Given the description of an element on the screen output the (x, y) to click on. 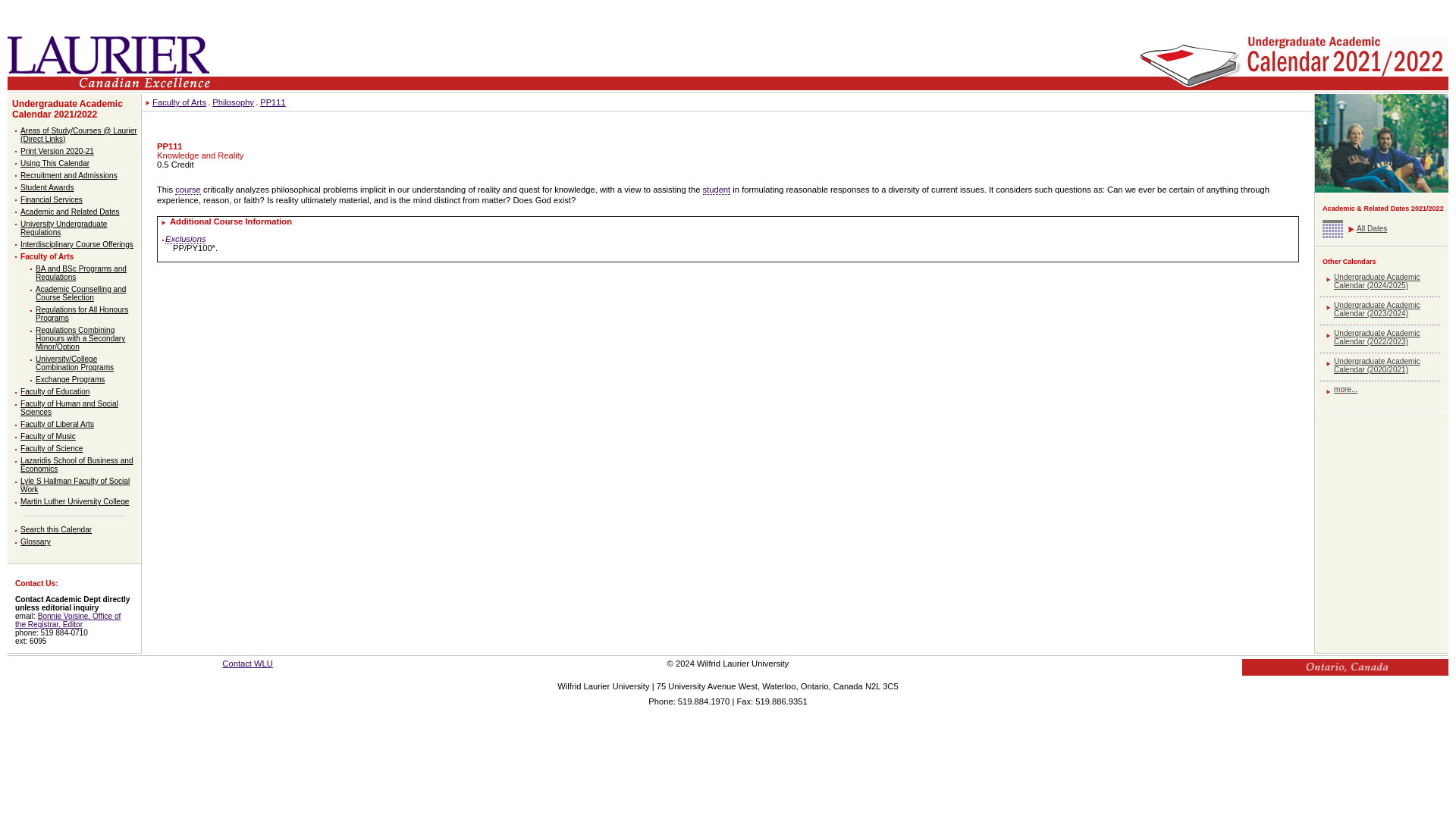
BA and BSc Programs and Regulations (80, 272)
Faculty of Liberal Arts (57, 424)
Lazaridis School of Business and Economics (76, 464)
Academic and Related Dates (69, 212)
Martin Luther University College (74, 501)
Faculty of Education (54, 391)
course (187, 189)
Bonnie Voisine, Office of the Registrar, Editor (67, 619)
Faculty of Science (51, 448)
Exclusions (185, 239)
